Given the description of an element on the screen output the (x, y) to click on. 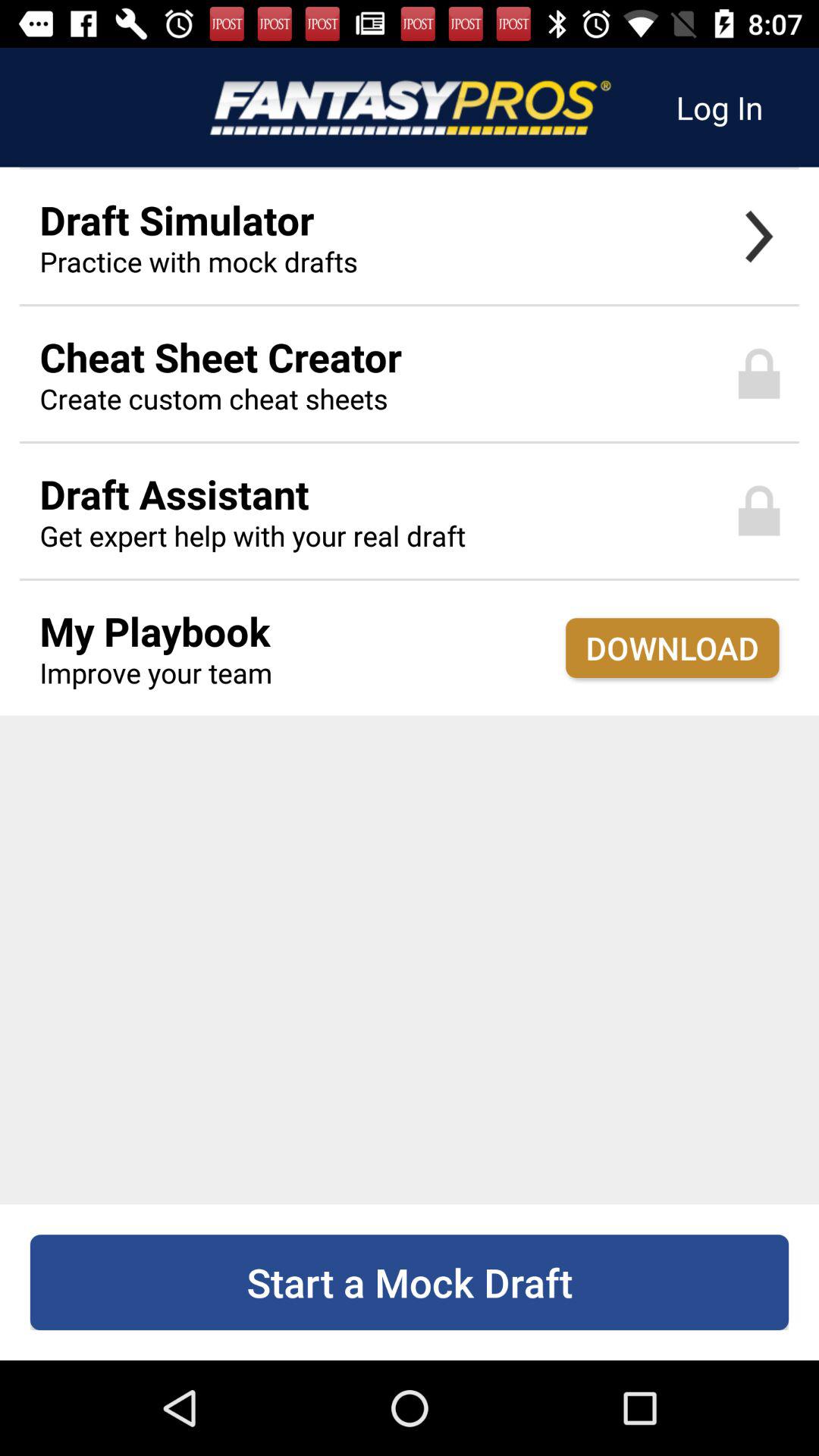
jump until the download button (672, 647)
